Given the description of an element on the screen output the (x, y) to click on. 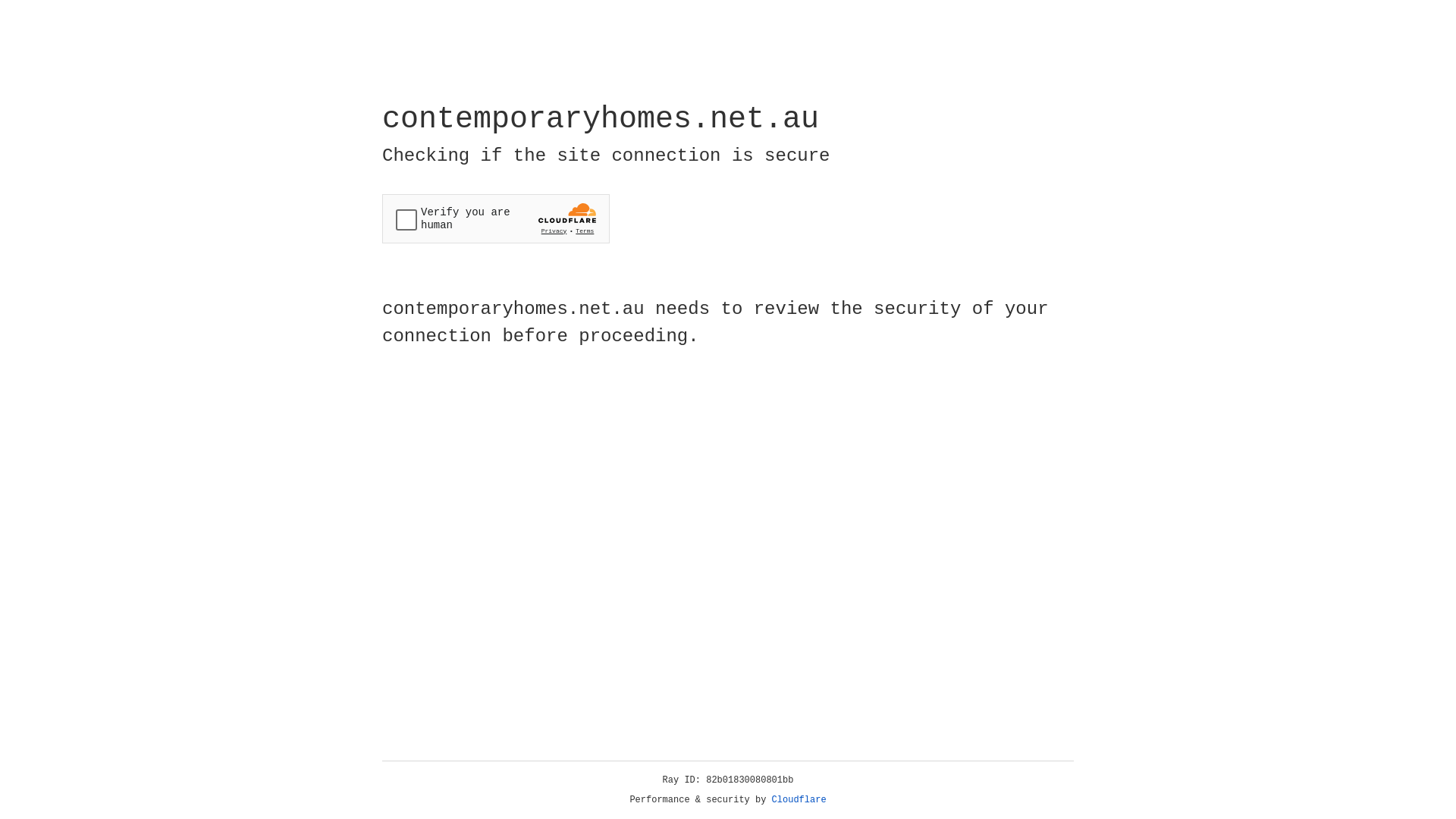
Cloudflare Element type: text (798, 799)
Widget containing a Cloudflare security challenge Element type: hover (495, 218)
